Given the description of an element on the screen output the (x, y) to click on. 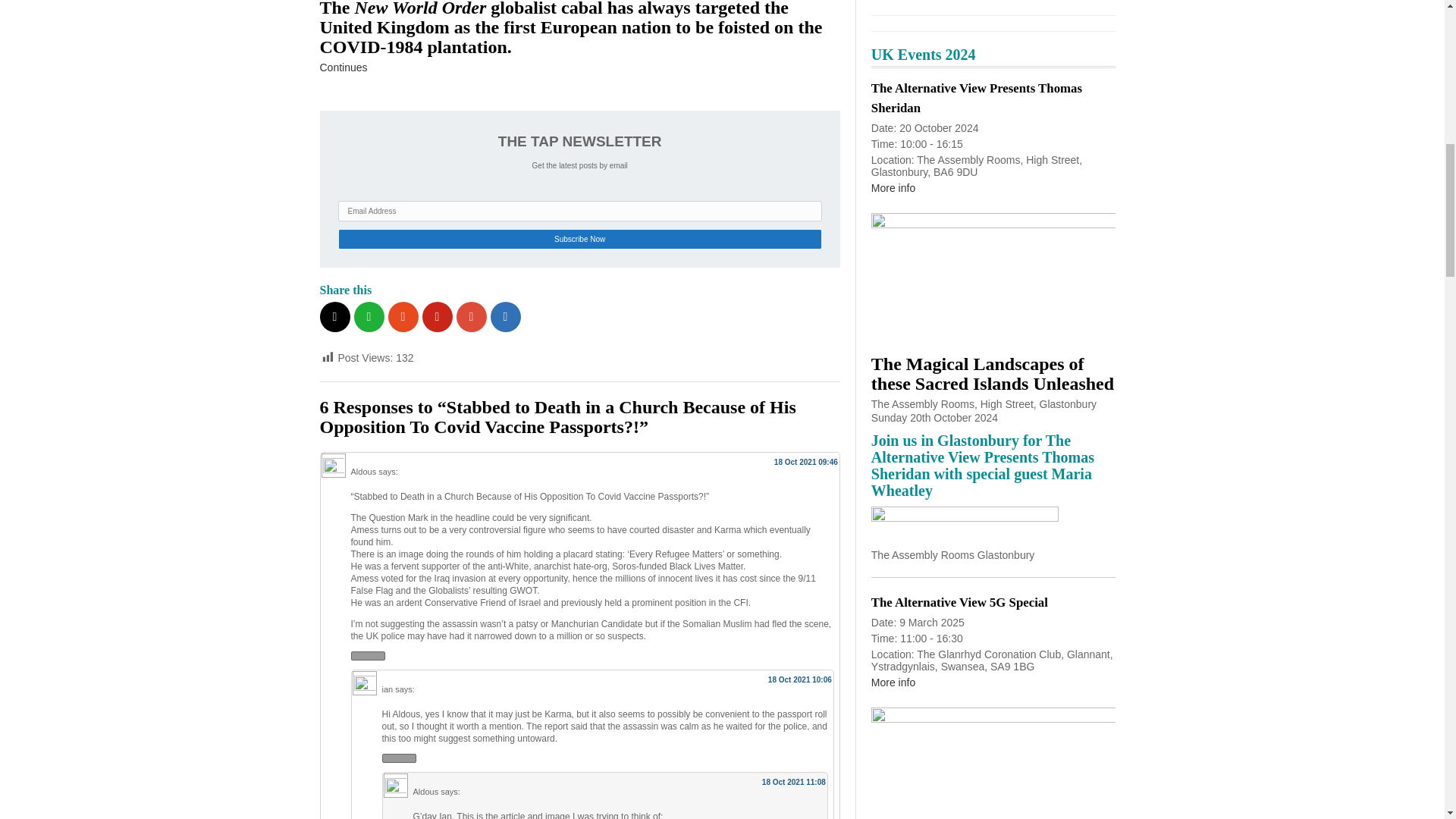
Continues (344, 67)
18 Oct 2021 09:46 (806, 461)
Subscribe Now (579, 239)
18 Oct 2021 11:08 (793, 782)
Subscribe Now (579, 239)
18 Oct 2021 10:06 (799, 679)
